Given the description of an element on the screen output the (x, y) to click on. 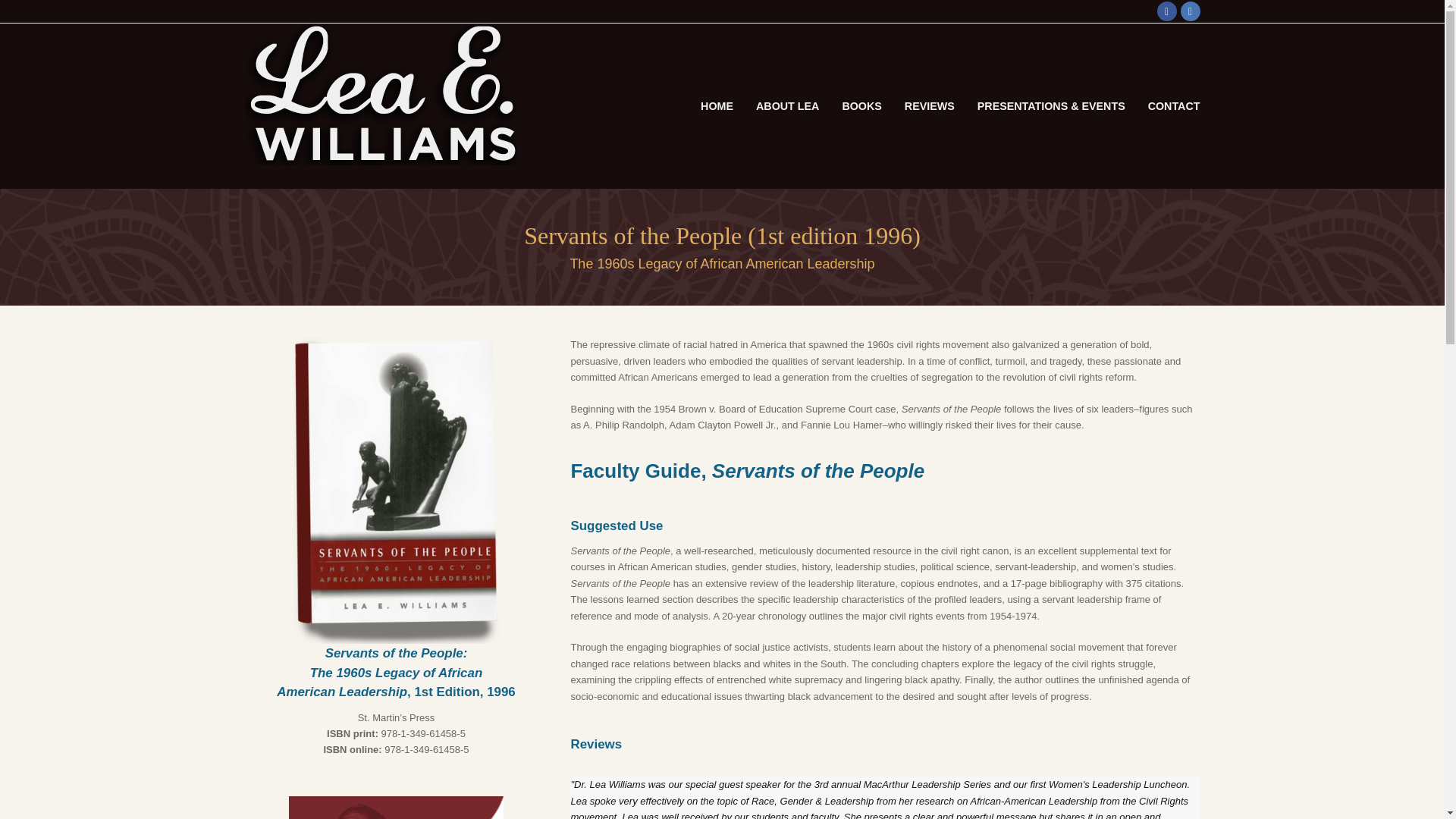
ABOUT LEA (786, 105)
Facebook (1166, 11)
REVIEWS (929, 105)
CONTACT (1174, 105)
LinkedIn (1189, 11)
HOME (716, 105)
LinkedIn (1189, 11)
BOOKS (860, 105)
Lea E Williams (379, 93)
Facebook (1166, 11)
